Given the description of an element on the screen output the (x, y) to click on. 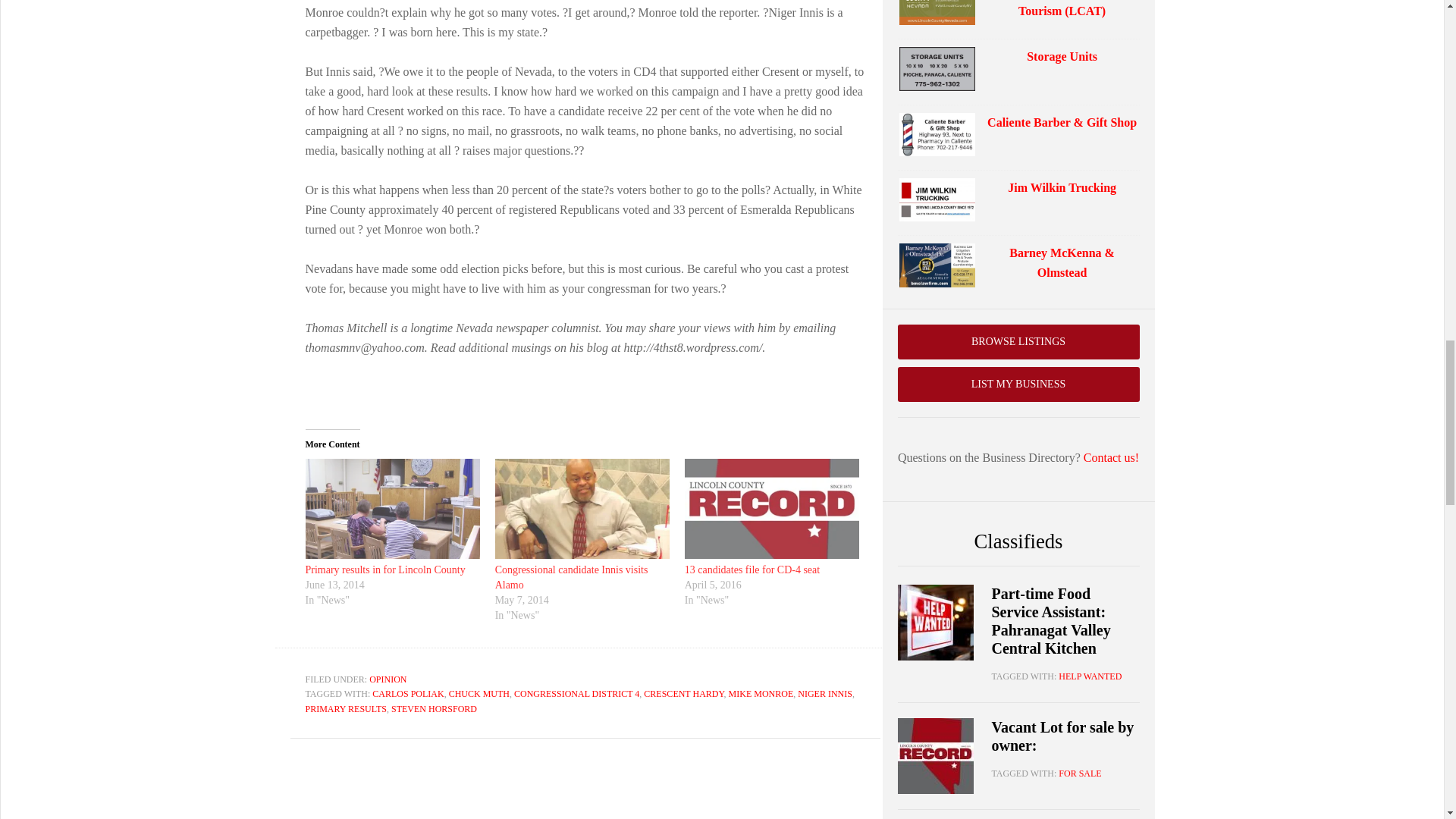
NIGER INNIS (824, 693)
PRIMARY RESULTS (344, 708)
Congressional candidate Innis visits Alamo (582, 508)
STEVEN HORSFORD (434, 708)
Congressional candidate Innis visits Alamo (571, 577)
MIKE MONROE (761, 693)
CRESCENT HARDY (683, 693)
13 candidates file for CD-4 seat (771, 508)
13 candidates file for CD-4 seat (751, 569)
CHUCK MUTH (478, 693)
13 candidates file for CD-4 seat (751, 569)
CONGRESSIONAL DISTRICT 4 (576, 693)
Primary results in for Lincoln County (384, 569)
Congressional candidate Innis visits Alamo (571, 577)
Primary results in for Lincoln County (384, 569)
